Given the description of an element on the screen output the (x, y) to click on. 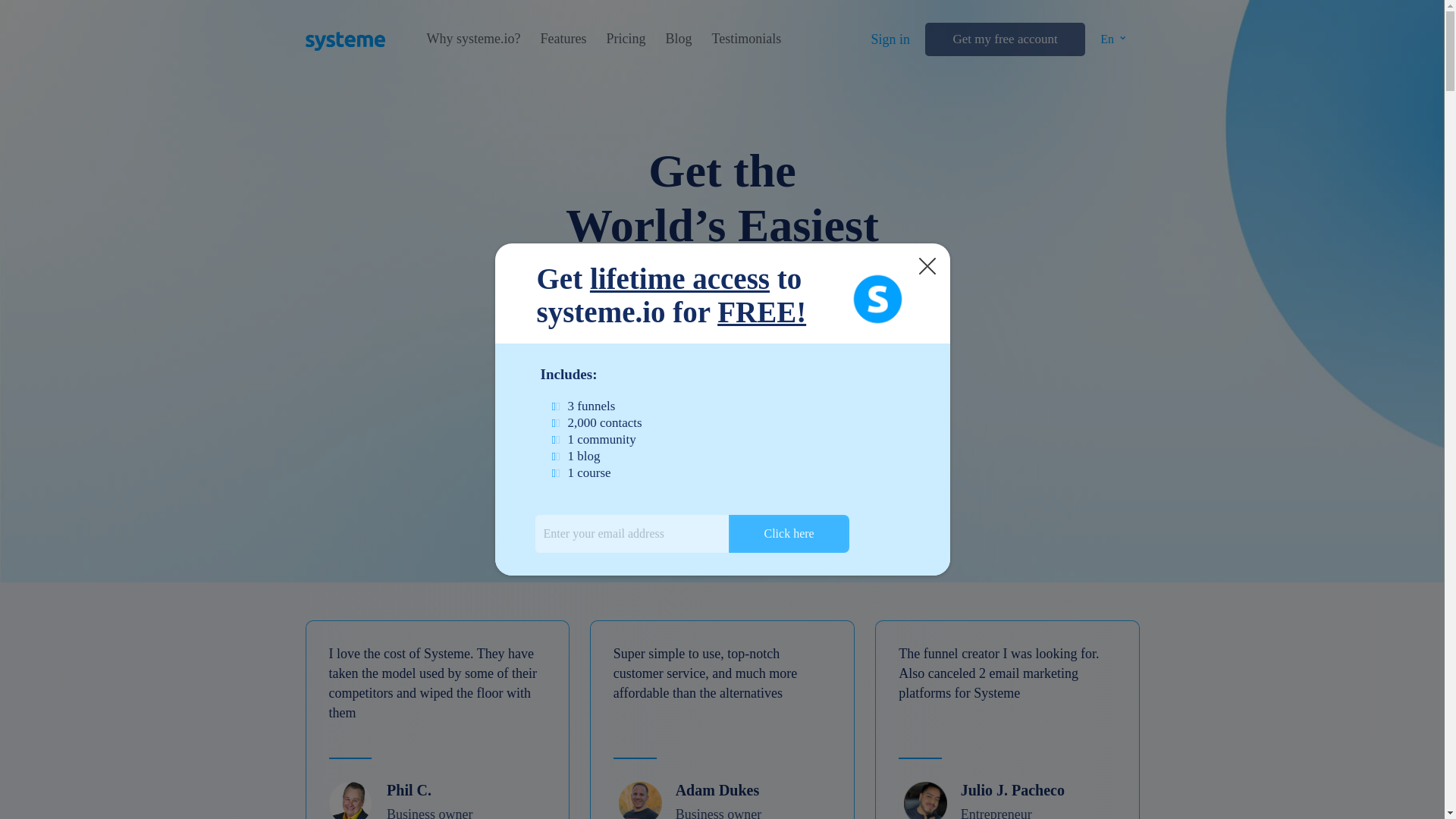
Why systeme.io? (472, 38)
Features (563, 38)
Blog (678, 38)
Pricing (625, 38)
Testimonials (745, 38)
Sign in (890, 39)
Get my free account (1004, 39)
